Given the description of an element on the screen output the (x, y) to click on. 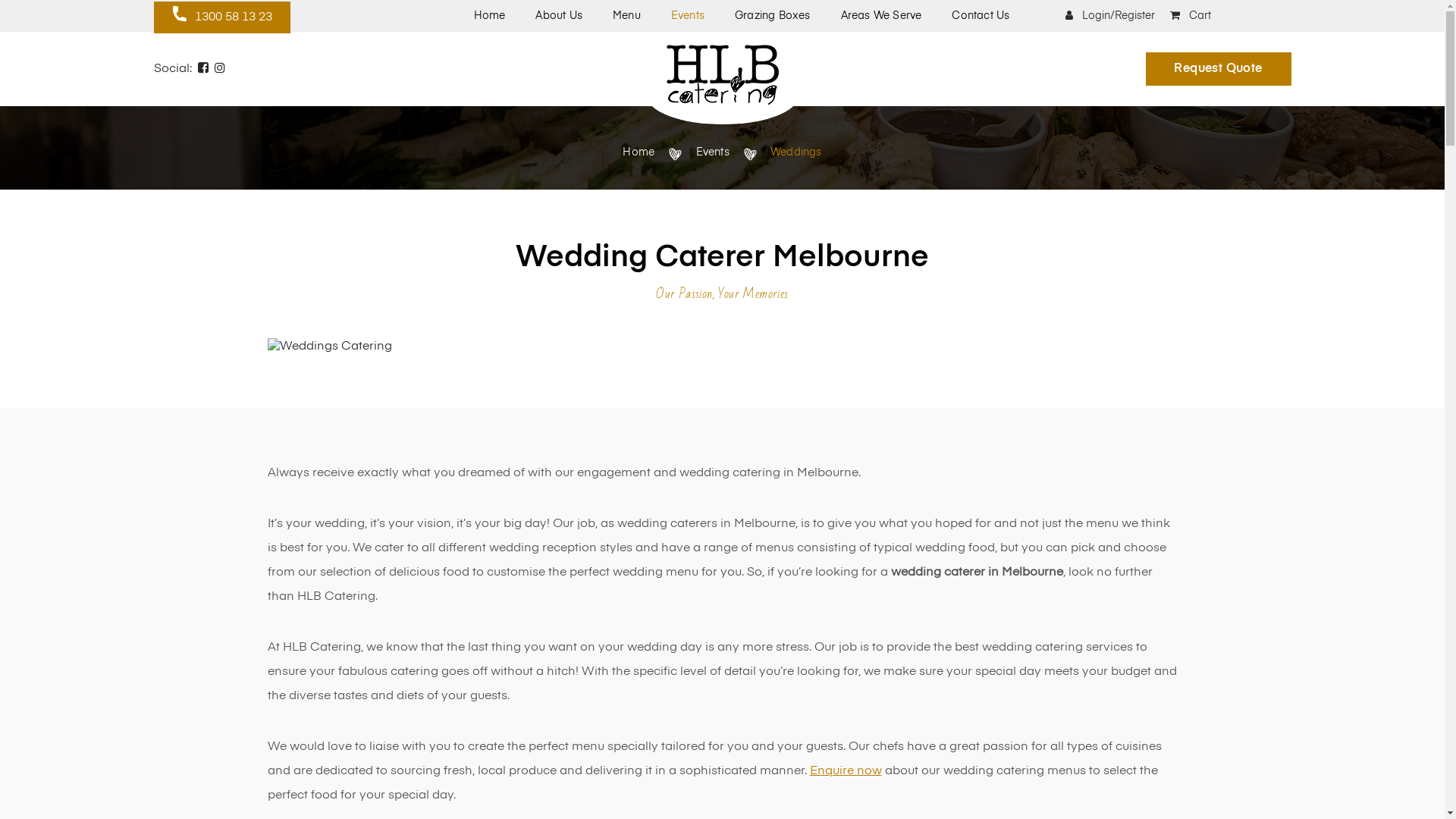
Login/Register Element type: text (1109, 15)
Cart Element type: text (1189, 15)
Areas We Serve Element type: text (881, 15)
Inner Banner Element type: hover (722, 147)
Events Element type: text (687, 15)
Menu Element type: text (626, 15)
Grazing Boxes Element type: text (772, 15)
Home Element type: text (489, 15)
Weddings Catering Element type: hover (328, 346)
Logo Element type: hover (721, 74)
1300 58 13 23 Element type: text (221, 17)
Contact Us Element type: text (980, 15)
Home Element type: text (638, 152)
Events Element type: text (712, 152)
Request Quote Element type: text (1217, 68)
About Us Element type: text (558, 15)
Enquire now Element type: text (845, 771)
